Given the description of an element on the screen output the (x, y) to click on. 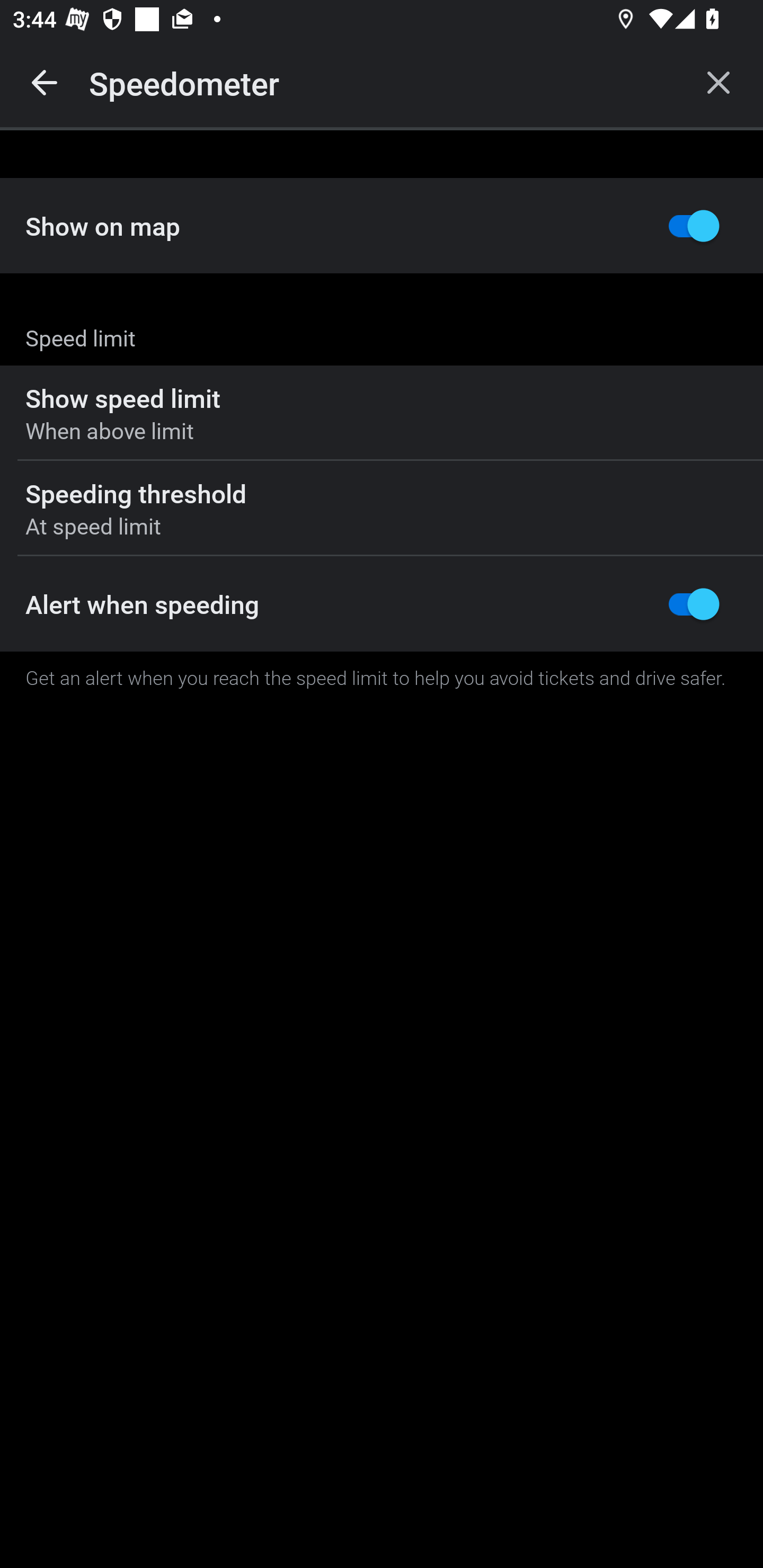
Show on map (381, 225)
Show speed limit When above limit (381, 412)
Speeding threshold At speed limit (381, 508)
Alert when speeding (381, 604)
